Given the description of an element on the screen output the (x, y) to click on. 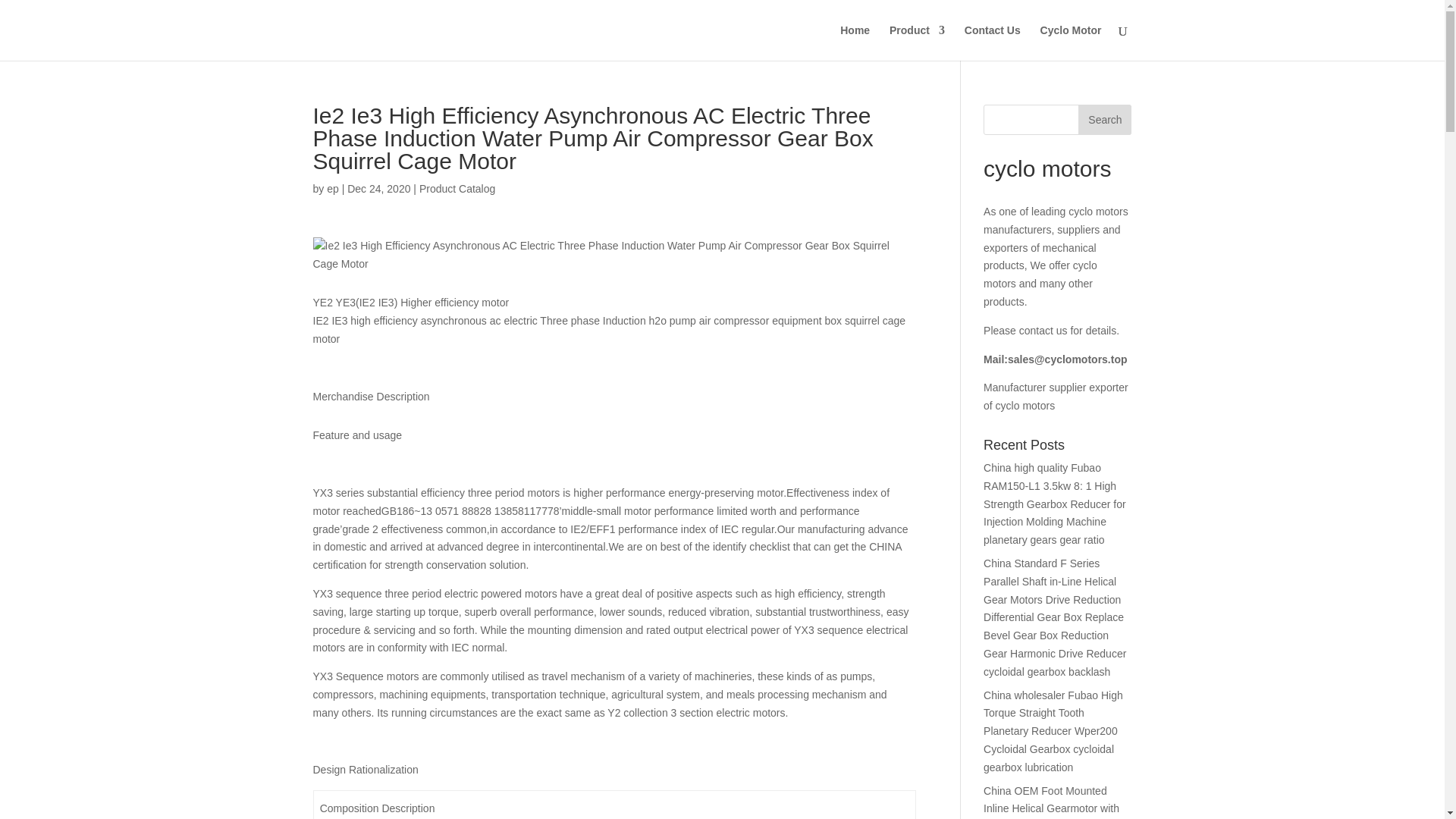
Product Catalog (457, 188)
Contact Us (991, 42)
Cyclo Motor (1071, 42)
Product (916, 42)
ep (332, 188)
Search (1104, 119)
Posts by ep (332, 188)
